Given the description of an element on the screen output the (x, y) to click on. 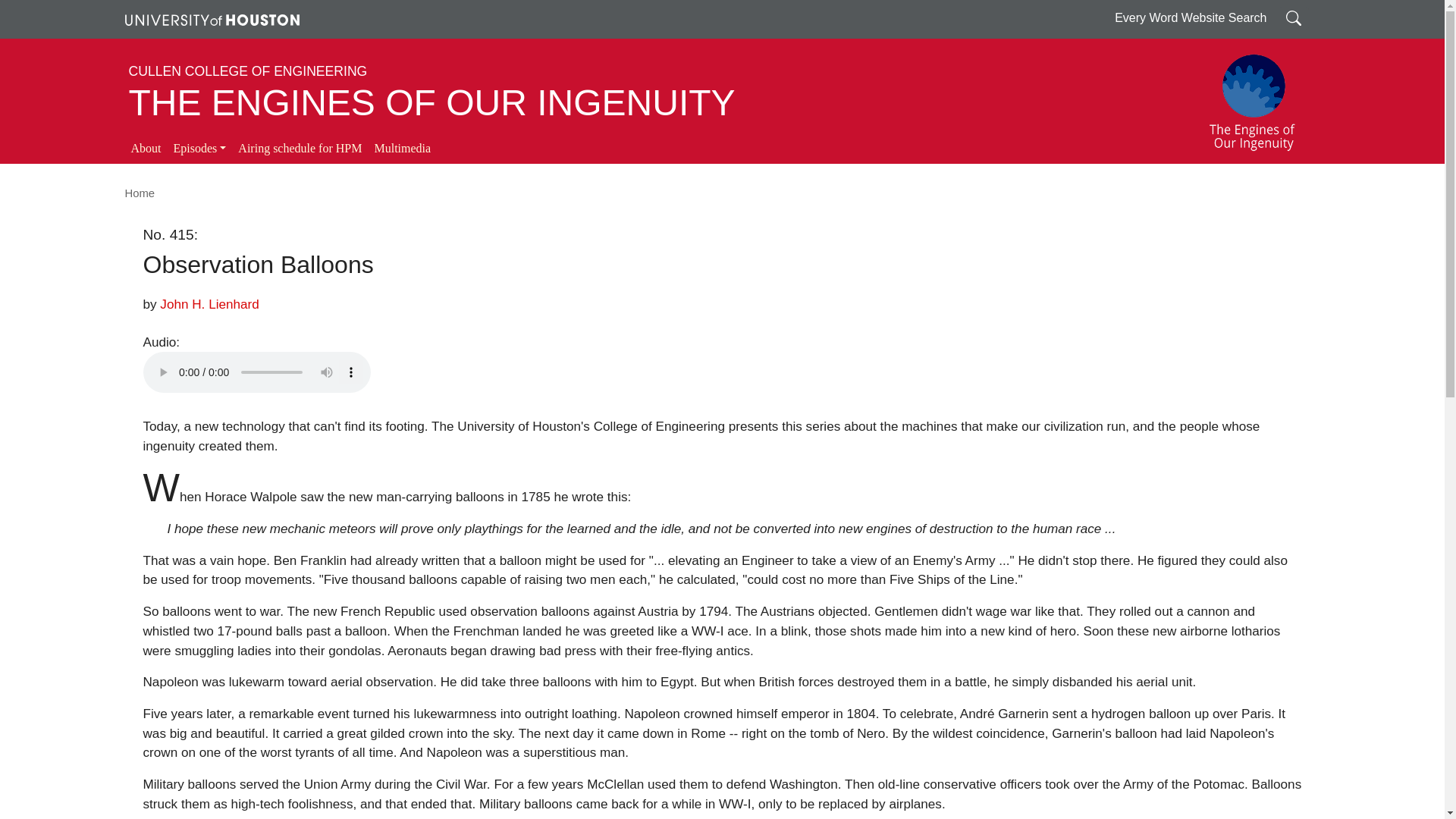
Episodes (199, 148)
THE ENGINES OF OUR INGENUITY (432, 102)
Airing schedule for HPM (299, 148)
Enter the terms you wish to search for. (1293, 17)
Airing schedule for HPM (299, 148)
Multimedia (402, 148)
Episodes (199, 148)
CULLEN COLLEGE OF ENGINEERING (248, 70)
Multimedia (402, 148)
About (145, 148)
